Given the description of an element on the screen output the (x, y) to click on. 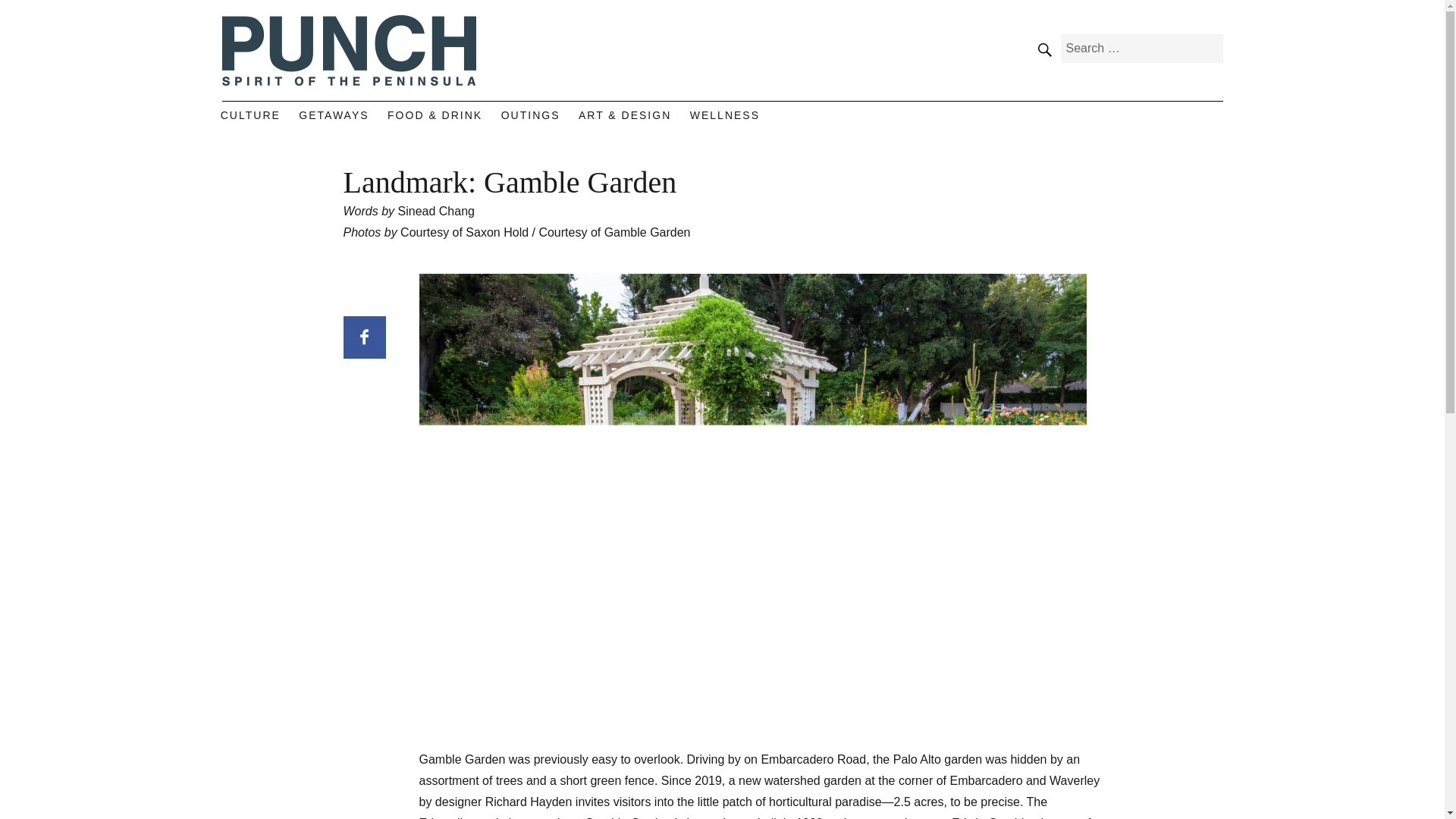
CULTURE (250, 115)
WELLNESS (725, 115)
facebook (1171, 121)
instagram (1204, 121)
OUTINGS (530, 115)
GETAWAYS (333, 115)
SEARCH (1043, 48)
